Given the description of an element on the screen output the (x, y) to click on. 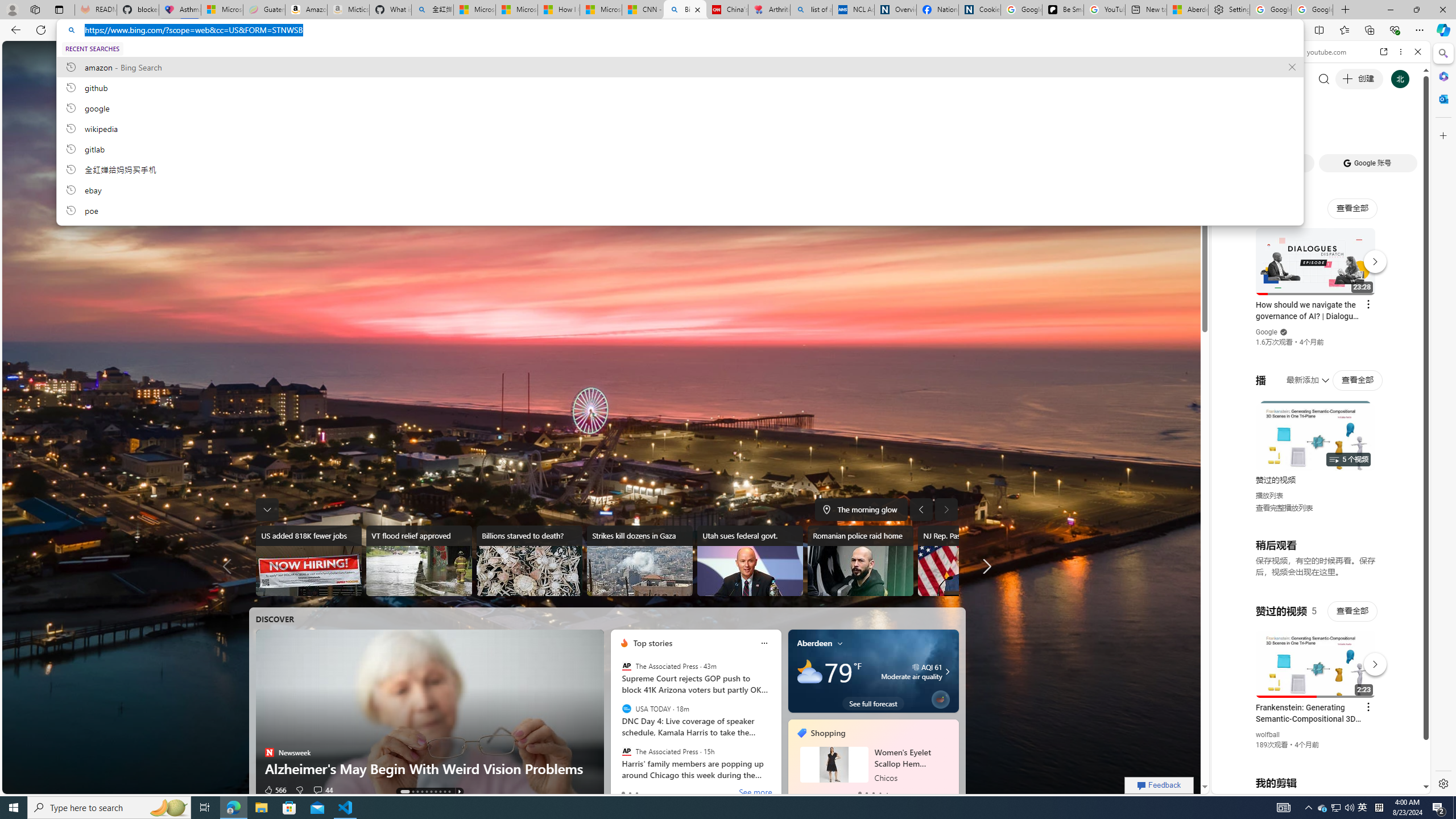
Music (1320, 309)
Settings (1442, 783)
News (493, 54)
Browser essentials (1394, 29)
Mostly cloudy (809, 671)
Home (1261, 51)
aqi-icon (916, 666)
